Given the description of an element on the screen output the (x, y) to click on. 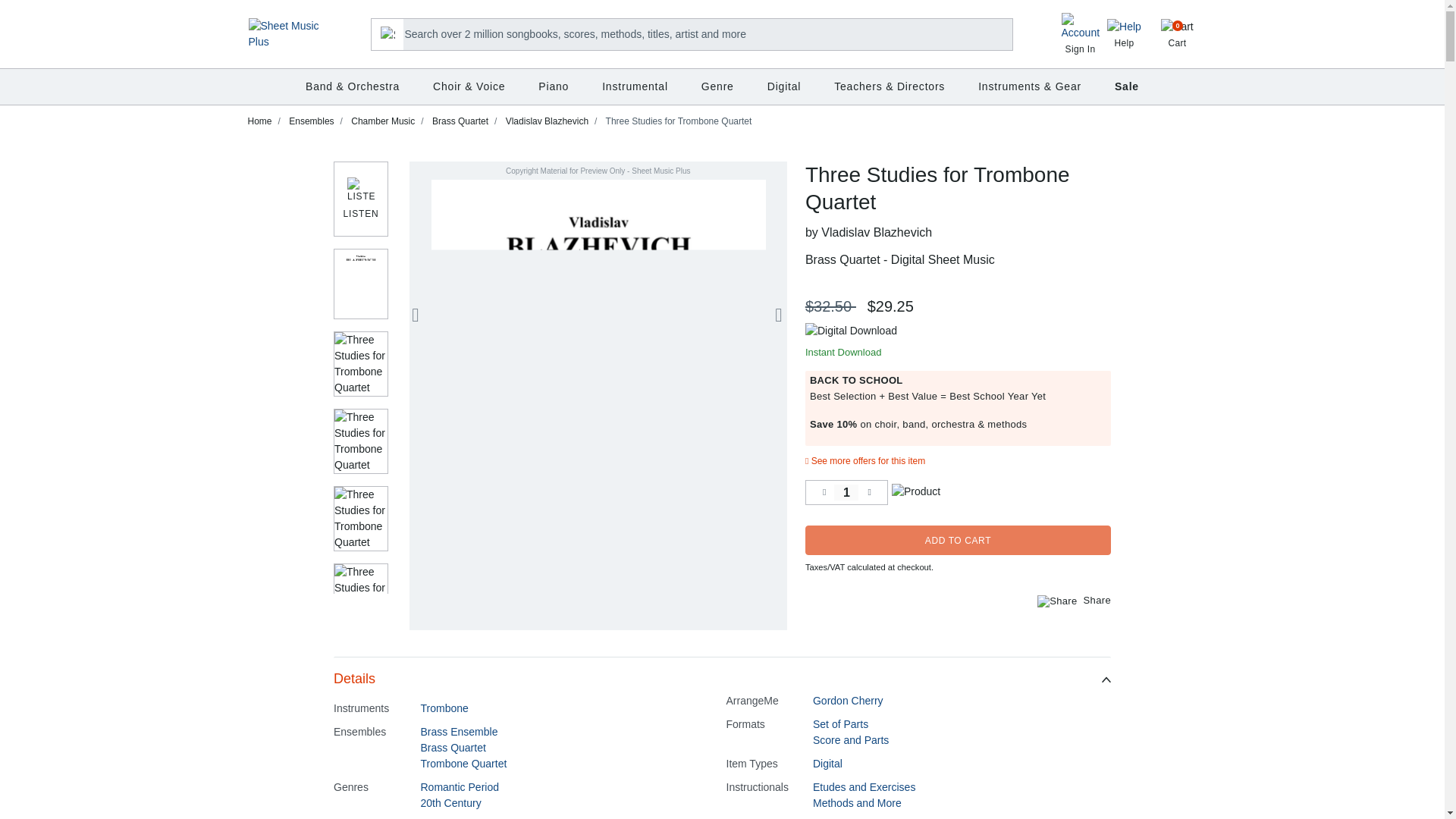
1 (846, 492)
Sign In (1080, 37)
Sheet Music Plus Home (1177, 33)
Help (284, 33)
Cart 0 Items (1123, 34)
